Given the description of an element on the screen output the (x, y) to click on. 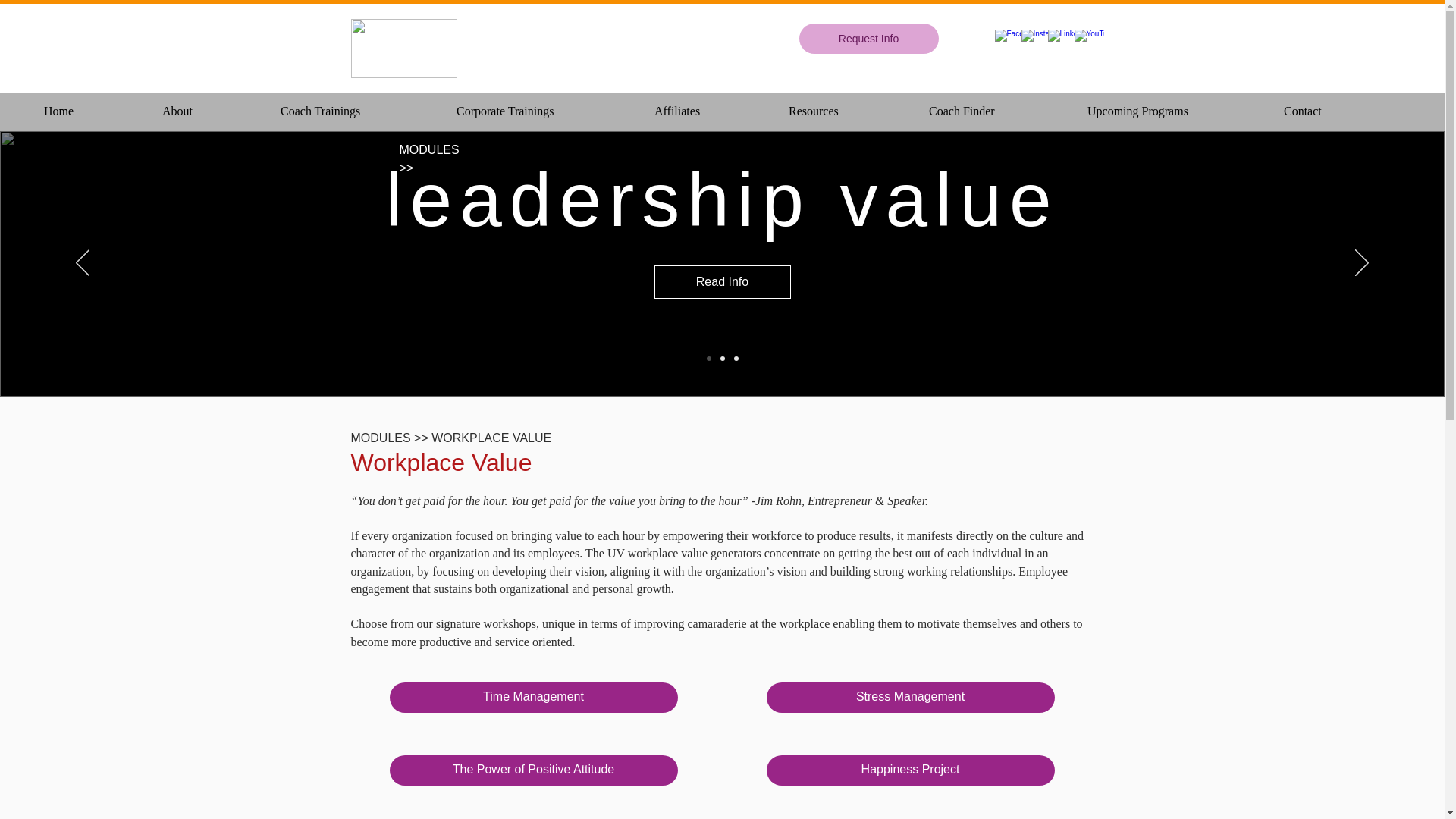
Upcoming Programs (1179, 104)
Request Info (869, 38)
Coach Finder (1002, 104)
Home (96, 104)
Read Info (721, 281)
coachskillsacademylogo.png (403, 47)
